Given the description of an element on the screen output the (x, y) to click on. 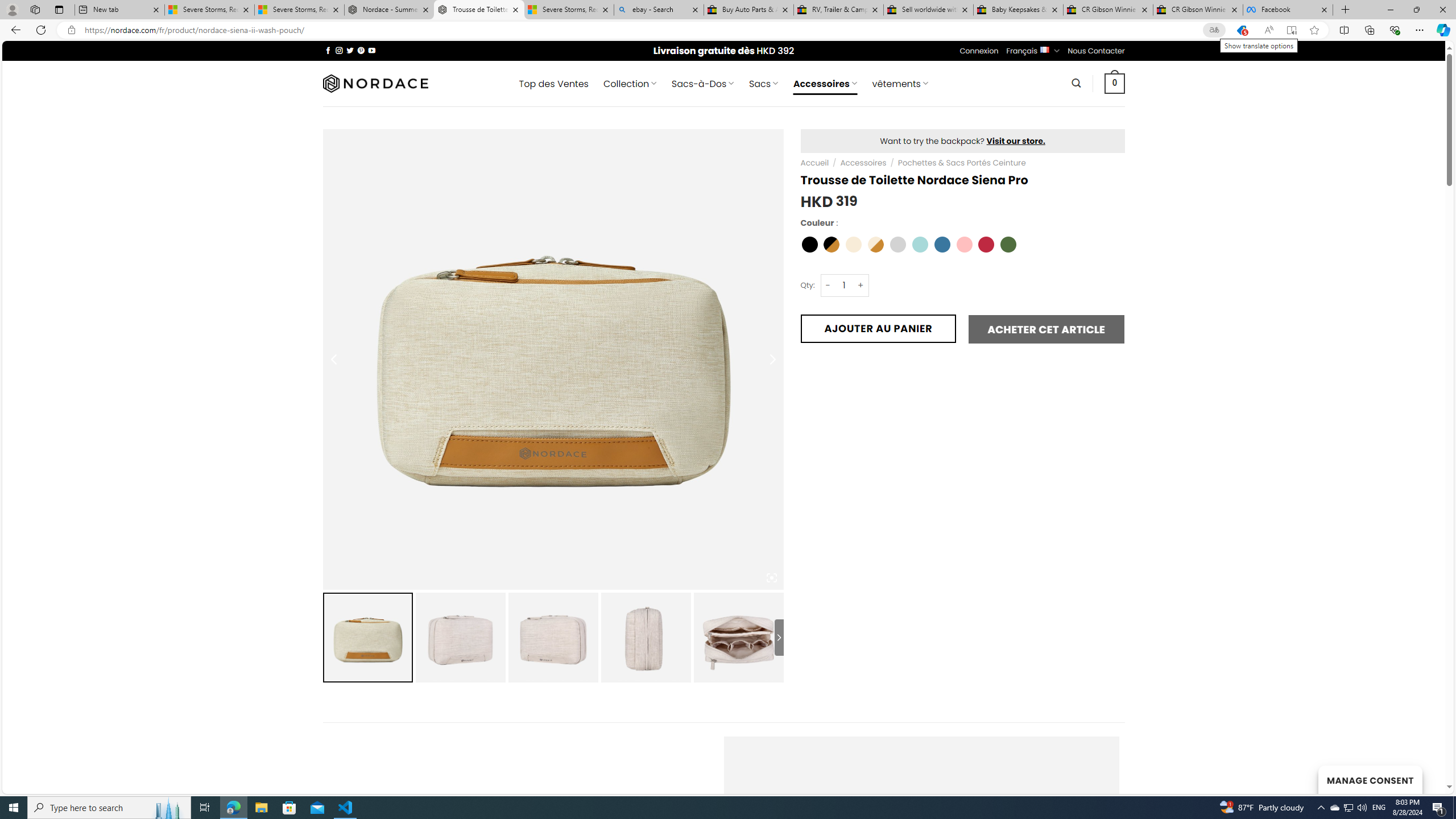
Nous Contacter (1096, 50)
  Top des Ventes (553, 83)
- (827, 284)
 Top des Ventes (553, 83)
Accueil (814, 162)
Accessoires (863, 162)
Visit our store. (1015, 140)
  0   (1115, 83)
Enter Immersive Reader (F9) (1291, 29)
 0  (1115, 83)
